Given the description of an element on the screen output the (x, y) to click on. 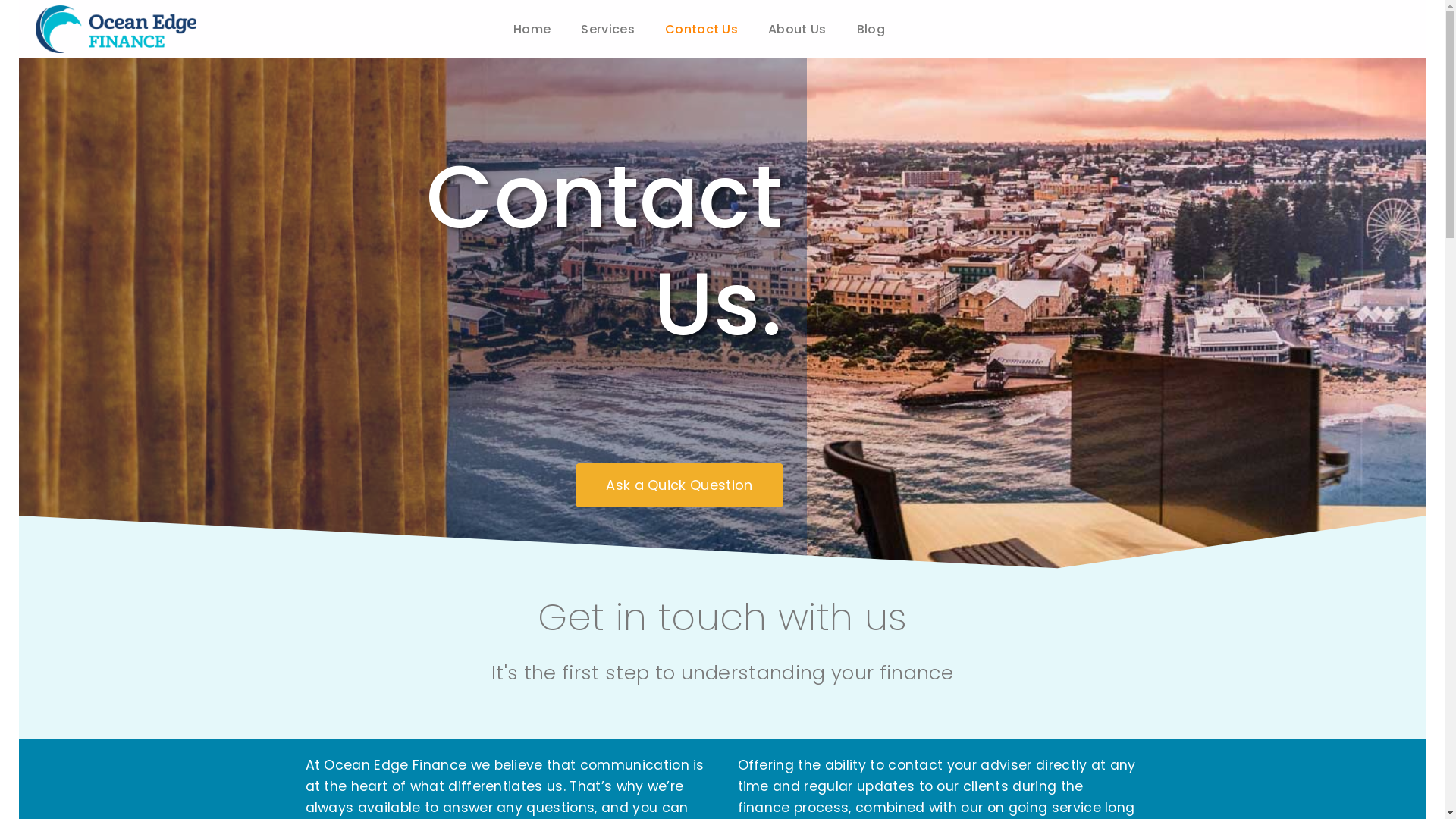
Home Element type: text (531, 29)
Blog Element type: text (870, 29)
Services Element type: text (607, 29)
About Us Element type: text (797, 29)
Ask a Quick Question Element type: text (678, 485)
Contact Us Element type: text (701, 29)
